Given the description of an element on the screen output the (x, y) to click on. 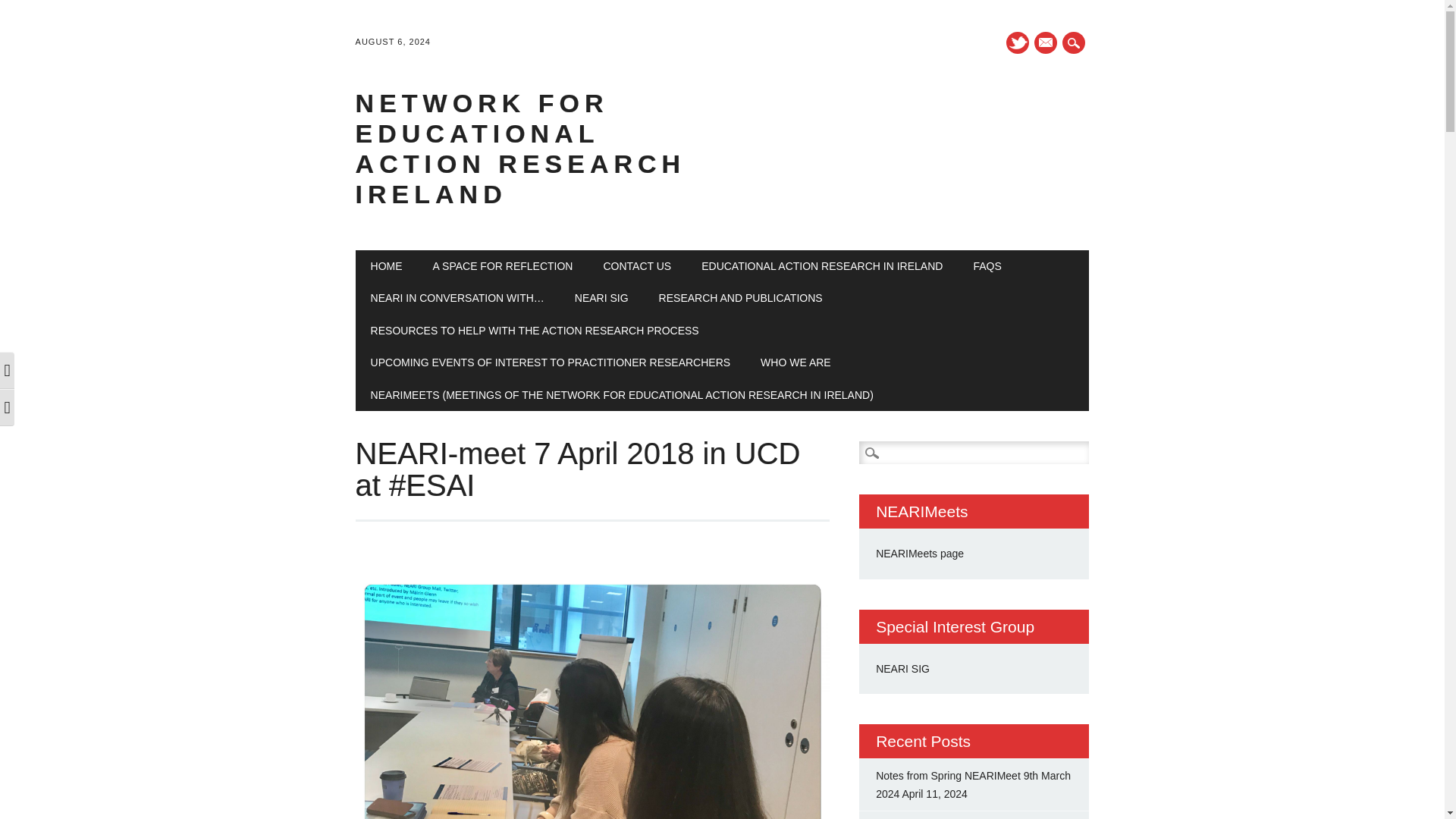
RESOURCES TO HELP WITH THE ACTION RESEARCH PROCESS (534, 330)
Twitter (1017, 42)
A SPACE FOR REFLECTION (502, 265)
NETWORK FOR EDUCATIONAL ACTION RESEARCH IRELAND (520, 148)
EDUCATIONAL ACTION RESEARCH IN IRELAND (821, 265)
NEARI SIG (601, 297)
Network for Educational Action Research Ireland (520, 148)
HOME (386, 265)
RESEARCH AND PUBLICATIONS (740, 297)
UPCOMING EVENTS OF INTEREST TO PRACTITIONER RESEARCHERS (550, 362)
